Given the description of an element on the screen output the (x, y) to click on. 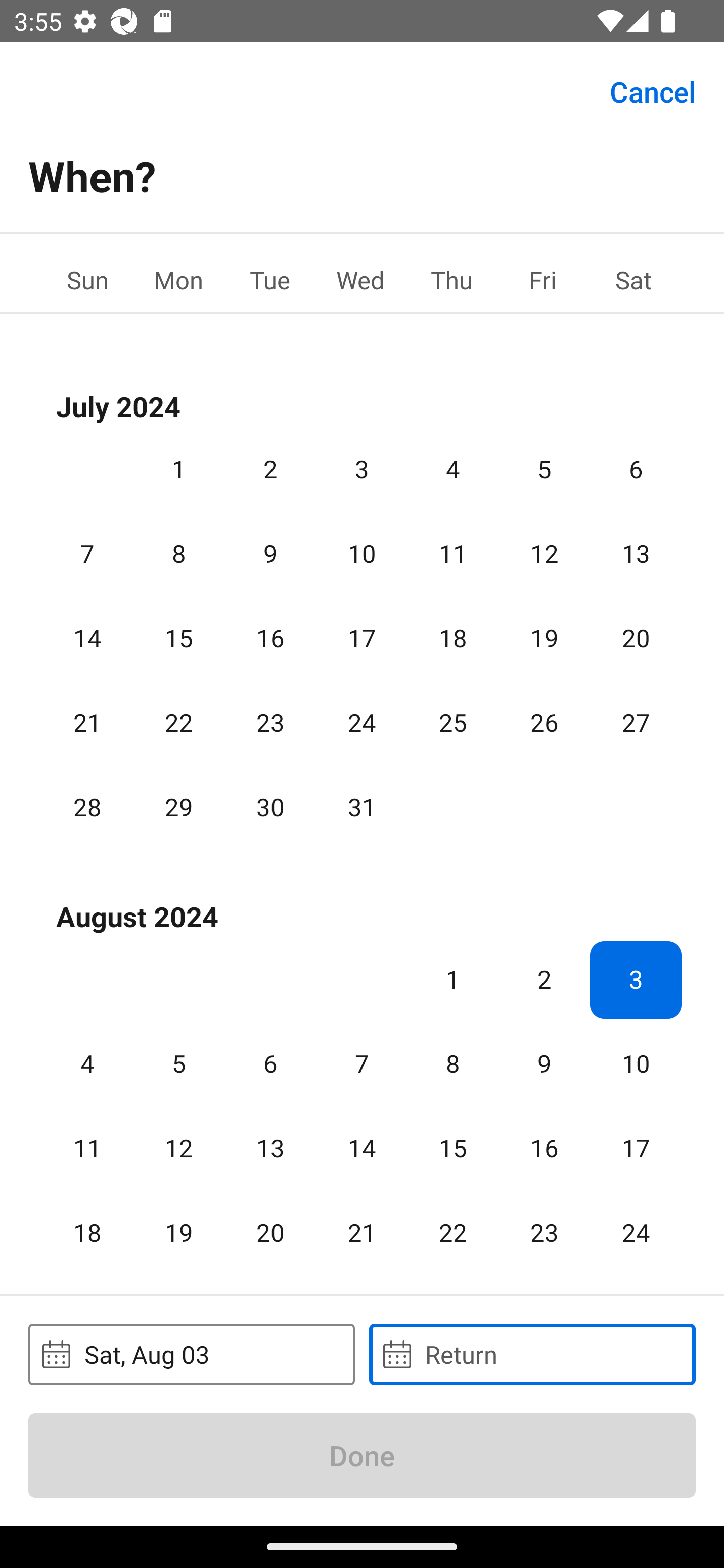
Cancel (652, 90)
Sat, Aug 03 (191, 1353)
Return (532, 1353)
Done (361, 1454)
